Given the description of an element on the screen output the (x, y) to click on. 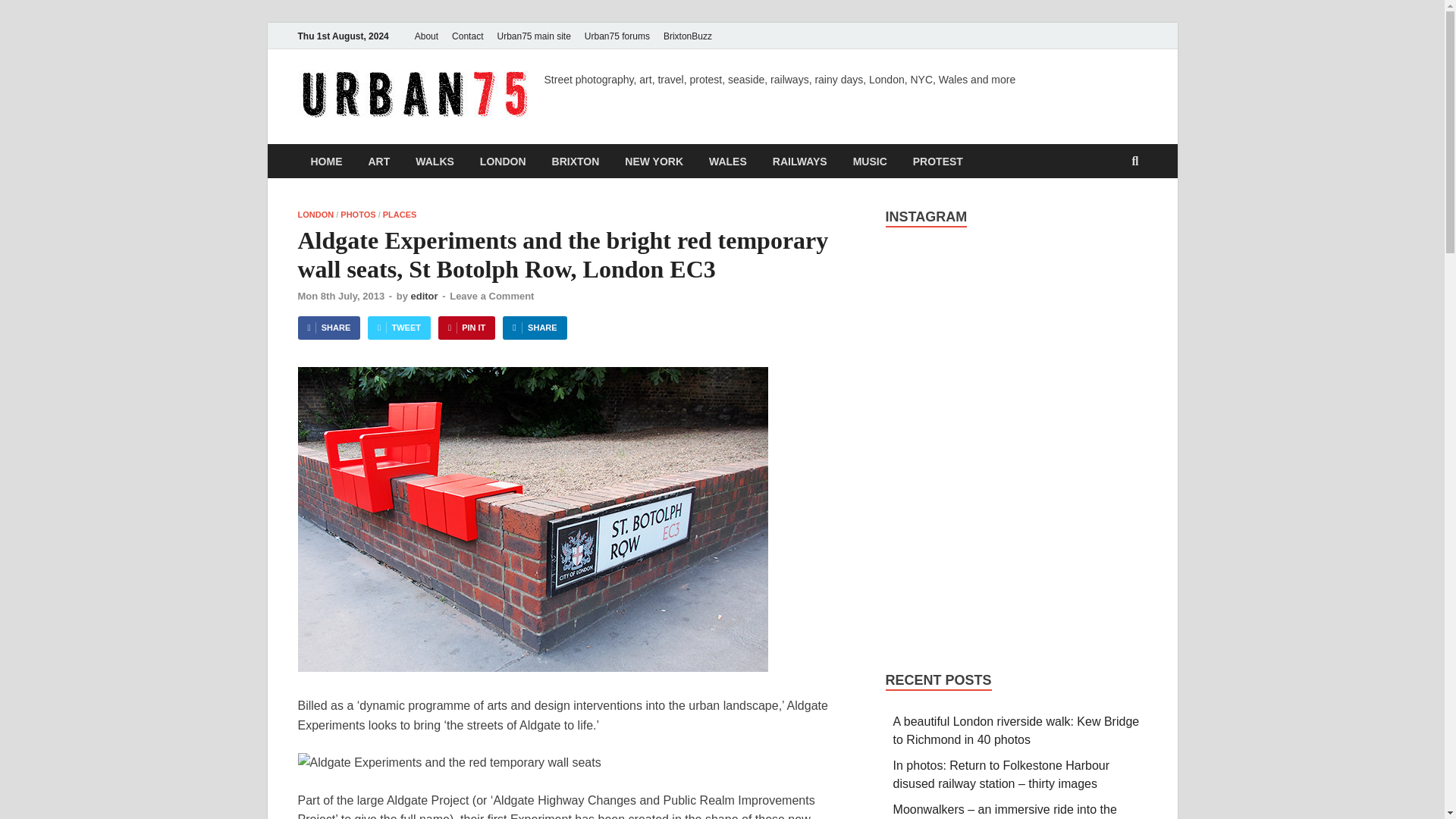
SHARE (328, 327)
HOME (326, 161)
PLACES (399, 214)
LONDON (315, 214)
RAILWAYS (800, 161)
Brixton listings website (687, 35)
SHARE (534, 327)
PHOTOS (357, 214)
WALES (727, 161)
Contact (467, 35)
